Given the description of an element on the screen output the (x, y) to click on. 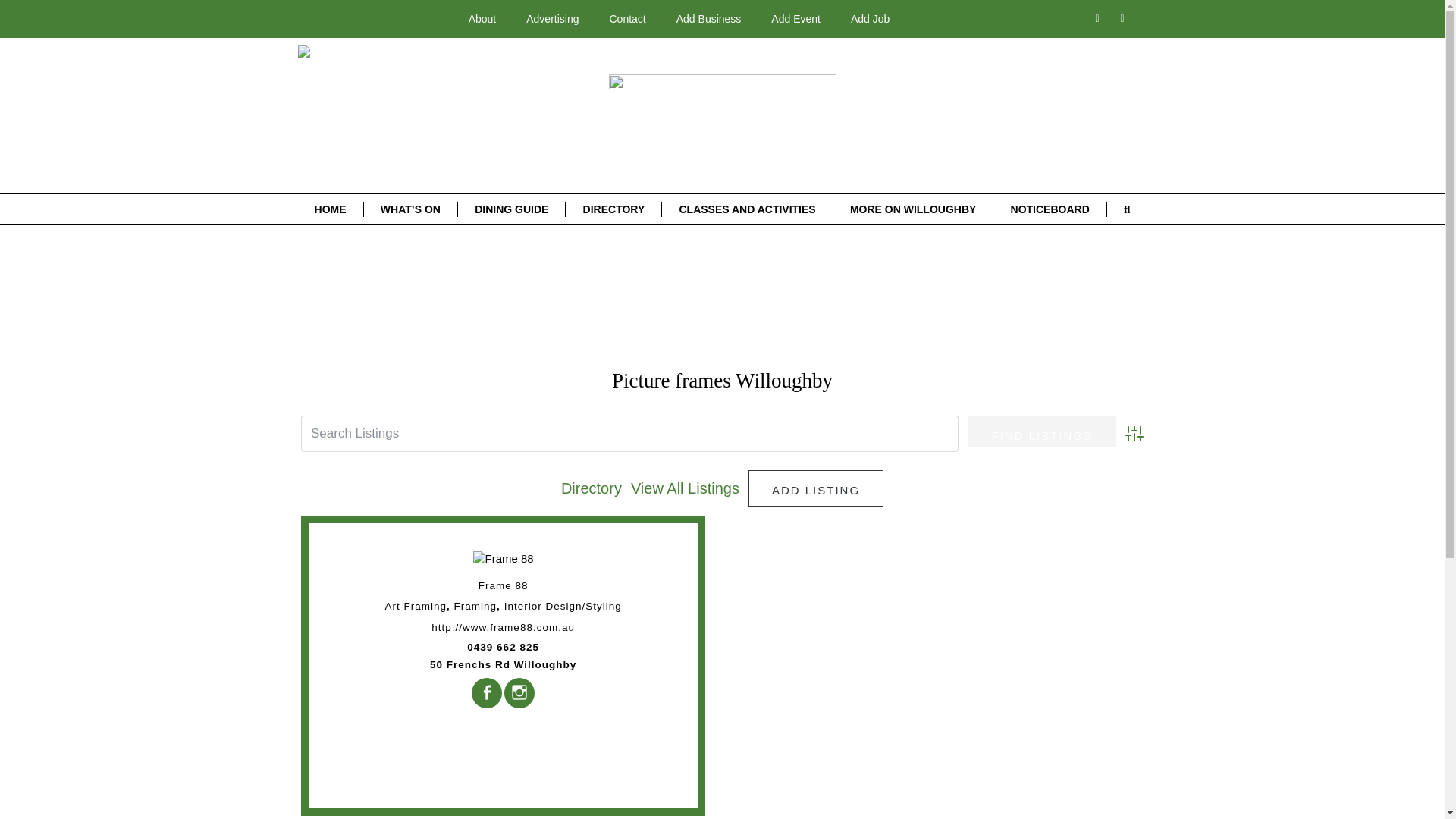
About (482, 18)
Advertising (552, 18)
Quick search keywords (629, 433)
Add Business (709, 18)
Contact (627, 18)
Frame 88 (503, 558)
Find Listings (1042, 431)
Add Event (795, 18)
Add Job (869, 18)
Advanced Search (1133, 433)
